Given the description of an element on the screen output the (x, y) to click on. 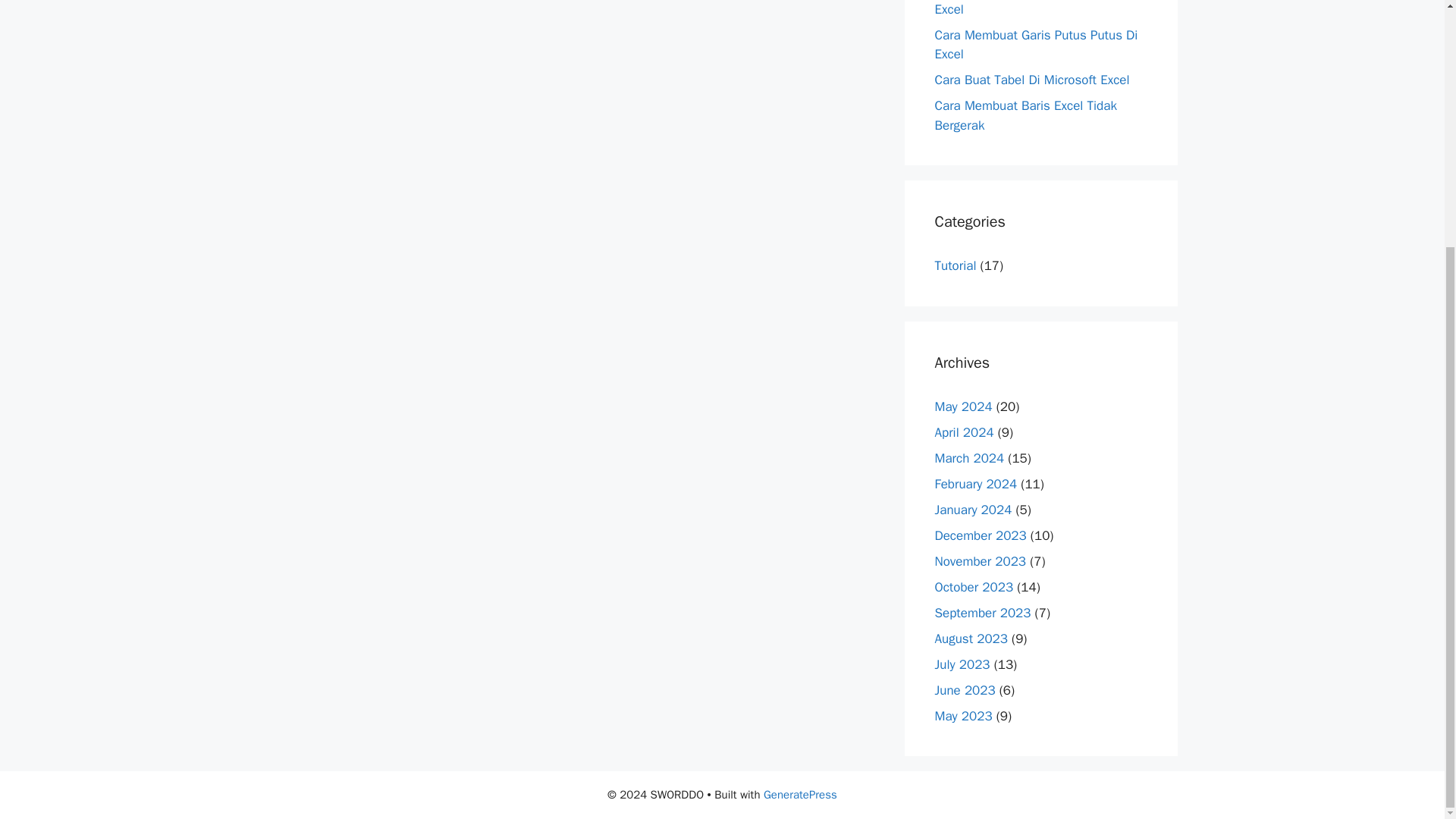
May 2023 (962, 715)
Cara Membuat Garis Putus Putus Di Excel (1035, 44)
August 2023 (970, 637)
Cara Buat Tabel Di Microsoft Excel (1031, 79)
Tutorial (954, 265)
July 2023 (962, 663)
November 2023 (980, 560)
May 2024 (962, 406)
June 2023 (964, 689)
December 2023 (980, 534)
October 2023 (973, 586)
January 2024 (972, 508)
Cara Buat Terbilang Otomatis Di Excel (1024, 8)
GeneratePress (799, 794)
April 2024 (963, 431)
